Given the description of an element on the screen output the (x, y) to click on. 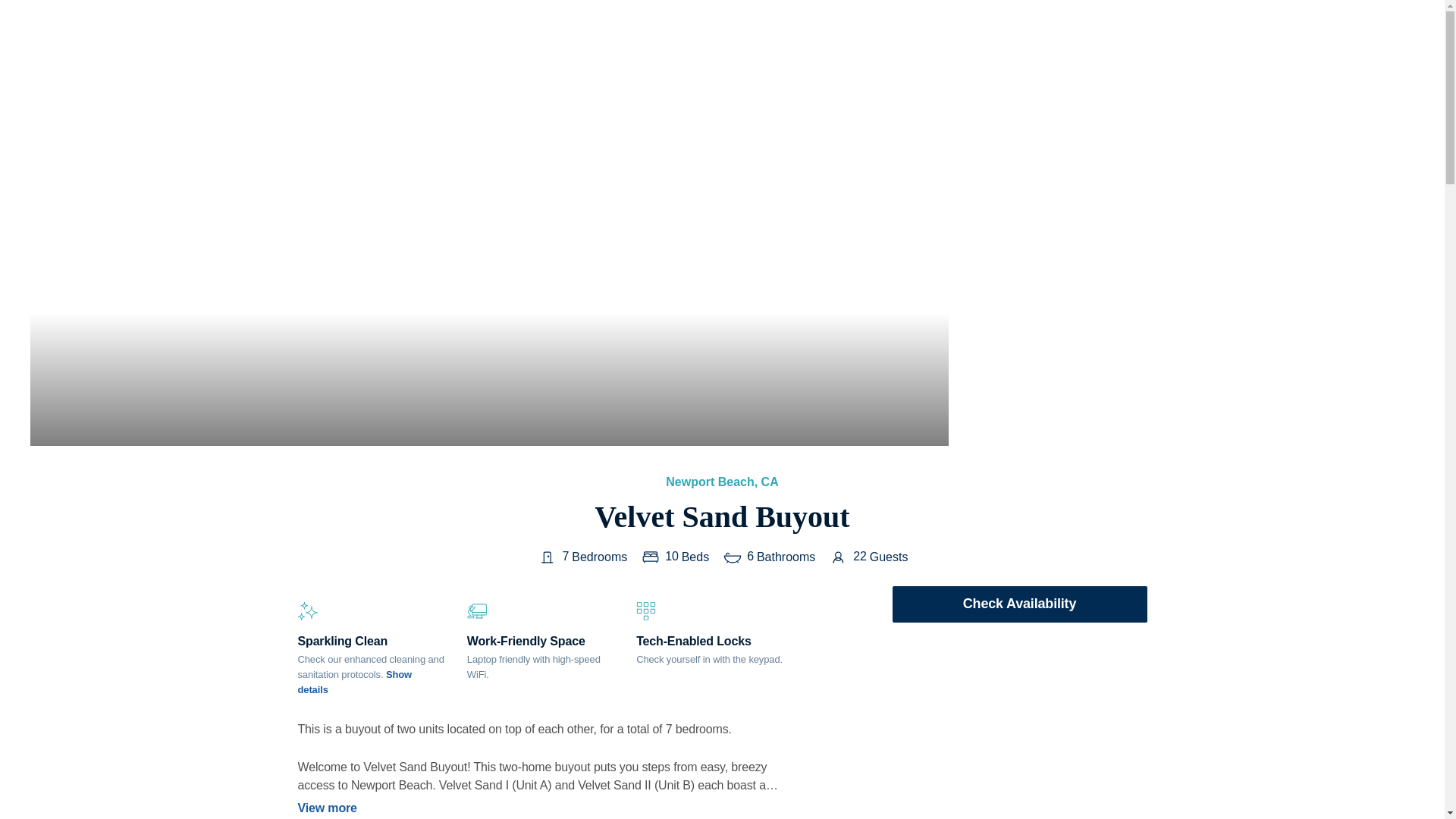
Newport Beach, CA (721, 481)
Check Availability (1019, 604)
Show details (354, 682)
View more (540, 808)
